Given the description of an element on the screen output the (x, y) to click on. 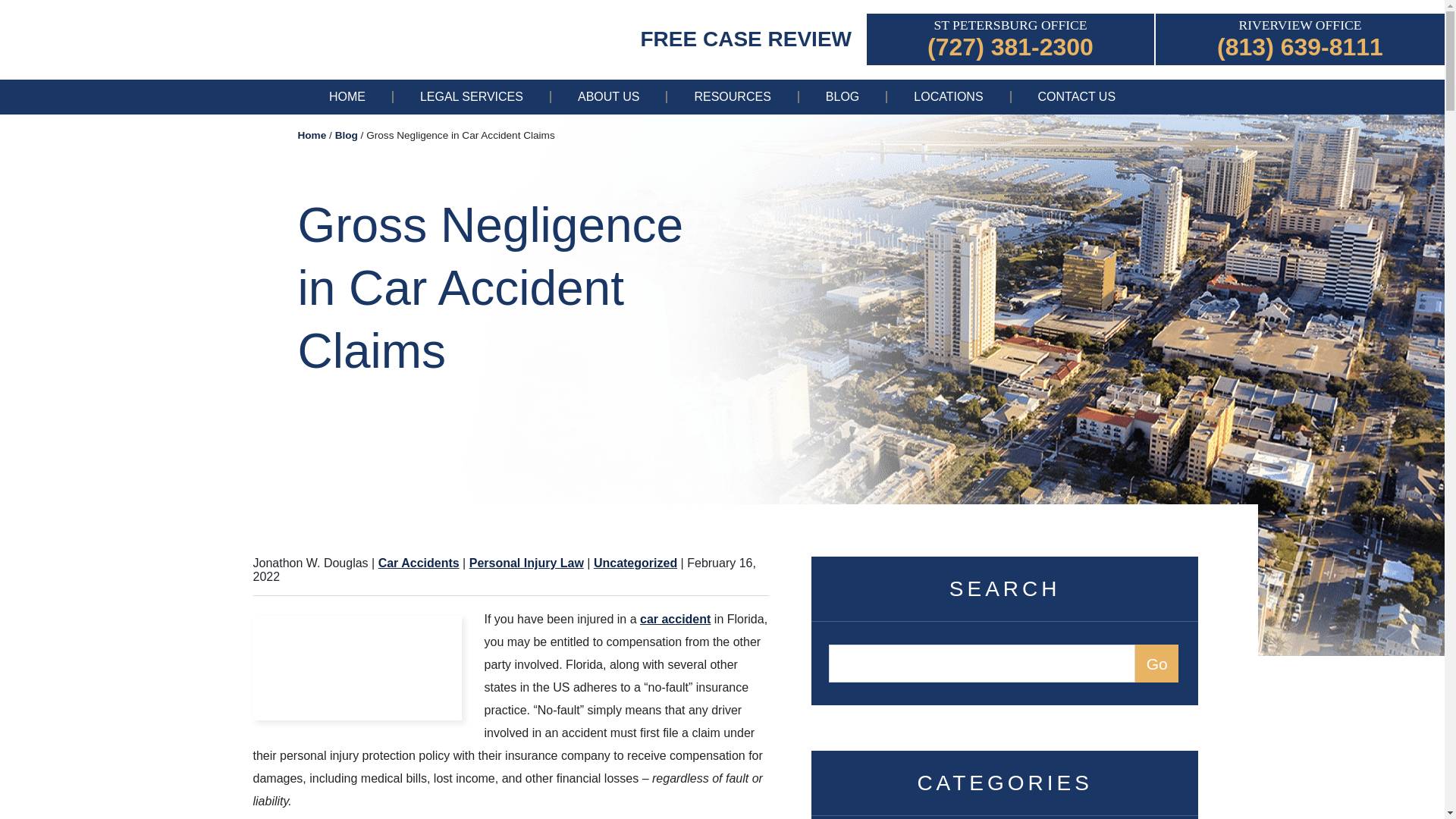
HOME (346, 96)
BLOG (842, 96)
ABOUT US (608, 96)
RESOURCES (731, 96)
Go (1156, 663)
LEGAL SERVICES (471, 96)
FREE CASE REVIEW (745, 38)
